Given the description of an element on the screen output the (x, y) to click on. 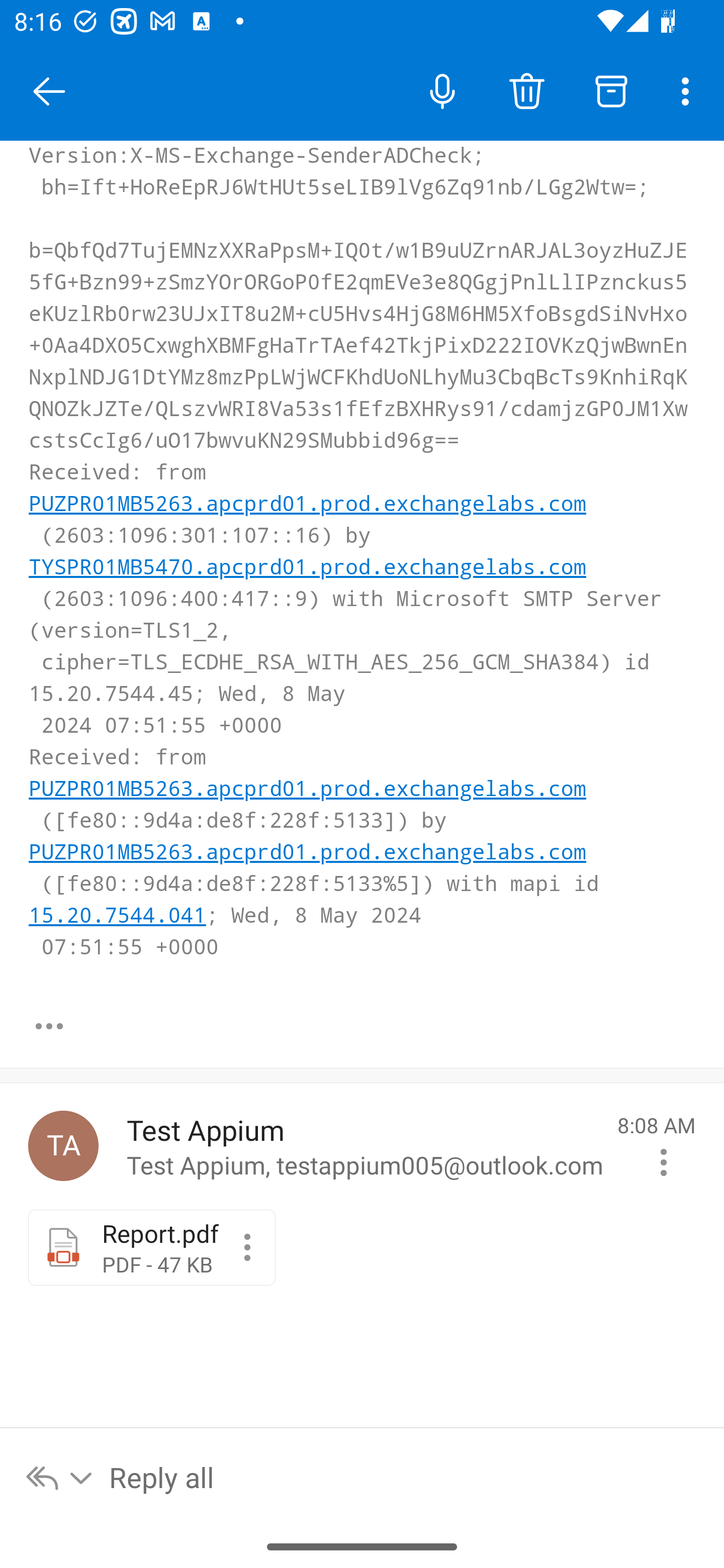
Close (49, 91)
Delete (526, 90)
Archive (611, 90)
More options (688, 90)
Open full message (49, 1025)
Test Appium, testappium002@outlook.com (63, 1145)
Message actions (663, 1162)
Report.pdf (246, 1247)
Reply options (59, 1476)
